Given the description of an element on the screen output the (x, y) to click on. 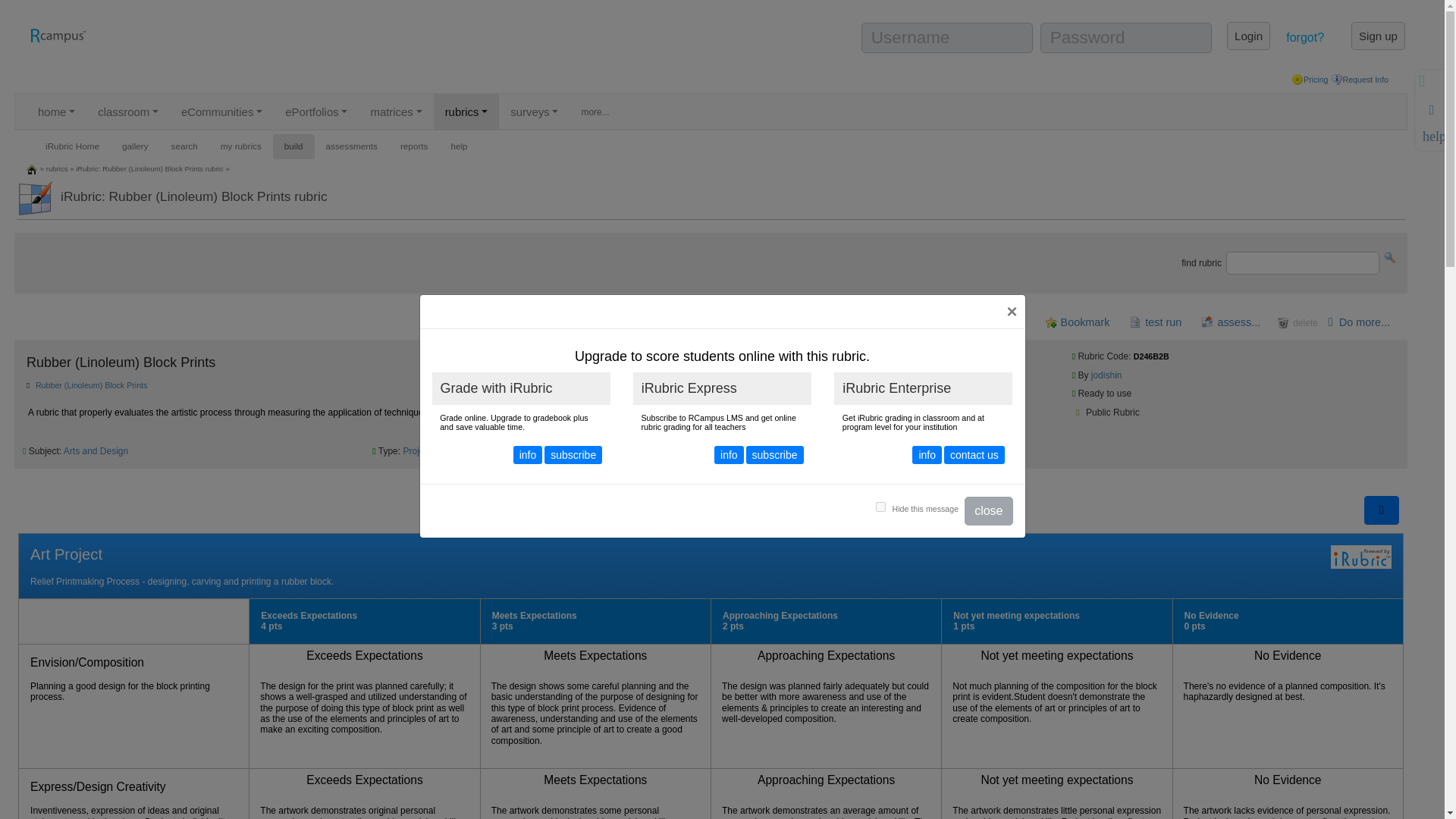
classroom (127, 111)
Bookmark (1077, 322)
ePortfolios (315, 111)
matrices (395, 111)
eCommunities (221, 111)
Copy this rubric to my rubrics so I can use or modify it. (971, 322)
Go to RCampus Home (57, 35)
matrices (395, 111)
Premium upgrades (1297, 79)
home (31, 168)
edit (760, 322)
eCommunities (221, 111)
rubrics (466, 111)
print (816, 322)
Login (1248, 35)
